Given the description of an element on the screen output the (x, y) to click on. 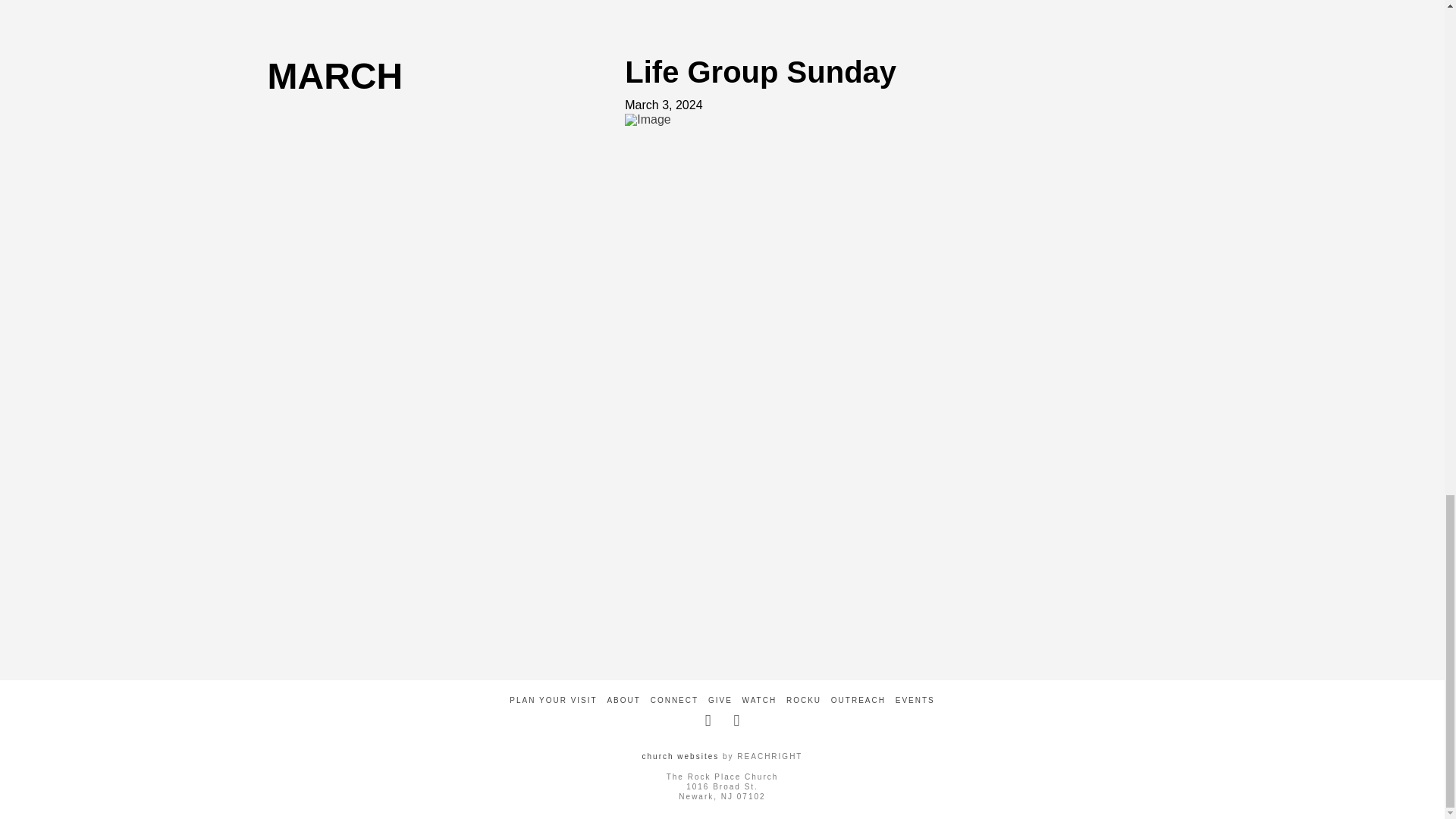
ABOUT (623, 700)
GIVE (719, 700)
CONNECT (674, 700)
OUTREACH (858, 700)
church websites (680, 756)
EVENTS (914, 700)
ROCKU (803, 700)
WATCH (759, 700)
PLAN YOUR VISIT (552, 700)
